Given the description of an element on the screen output the (x, y) to click on. 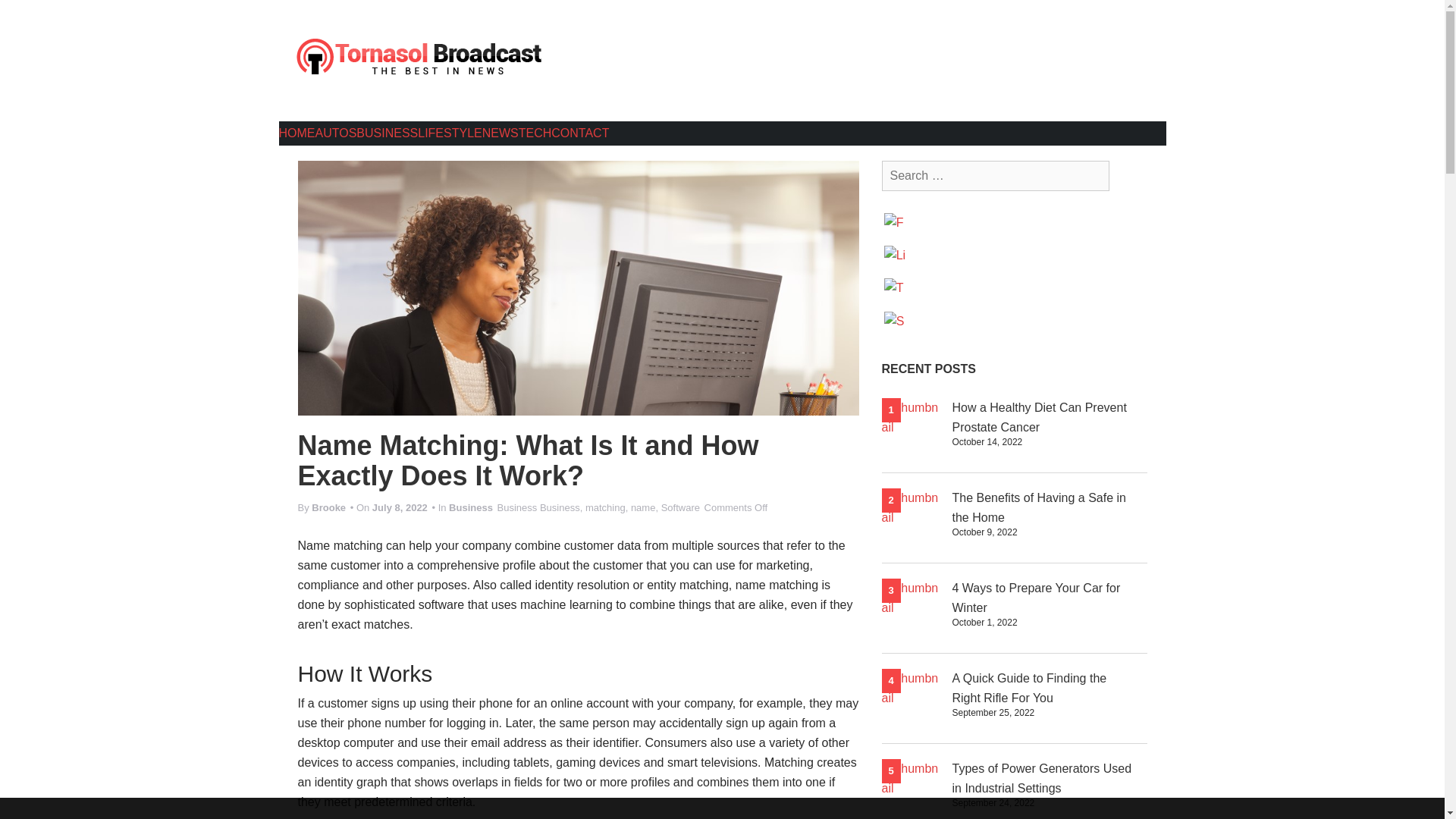
Business (470, 507)
4 Ways to Prepare Your Car for Winter (1036, 597)
Facebook (895, 223)
LIFESTYLE (449, 133)
Business (517, 507)
Business (559, 507)
Search (24, 9)
TECH (534, 133)
CONTACT (579, 133)
